Given the description of an element on the screen output the (x, y) to click on. 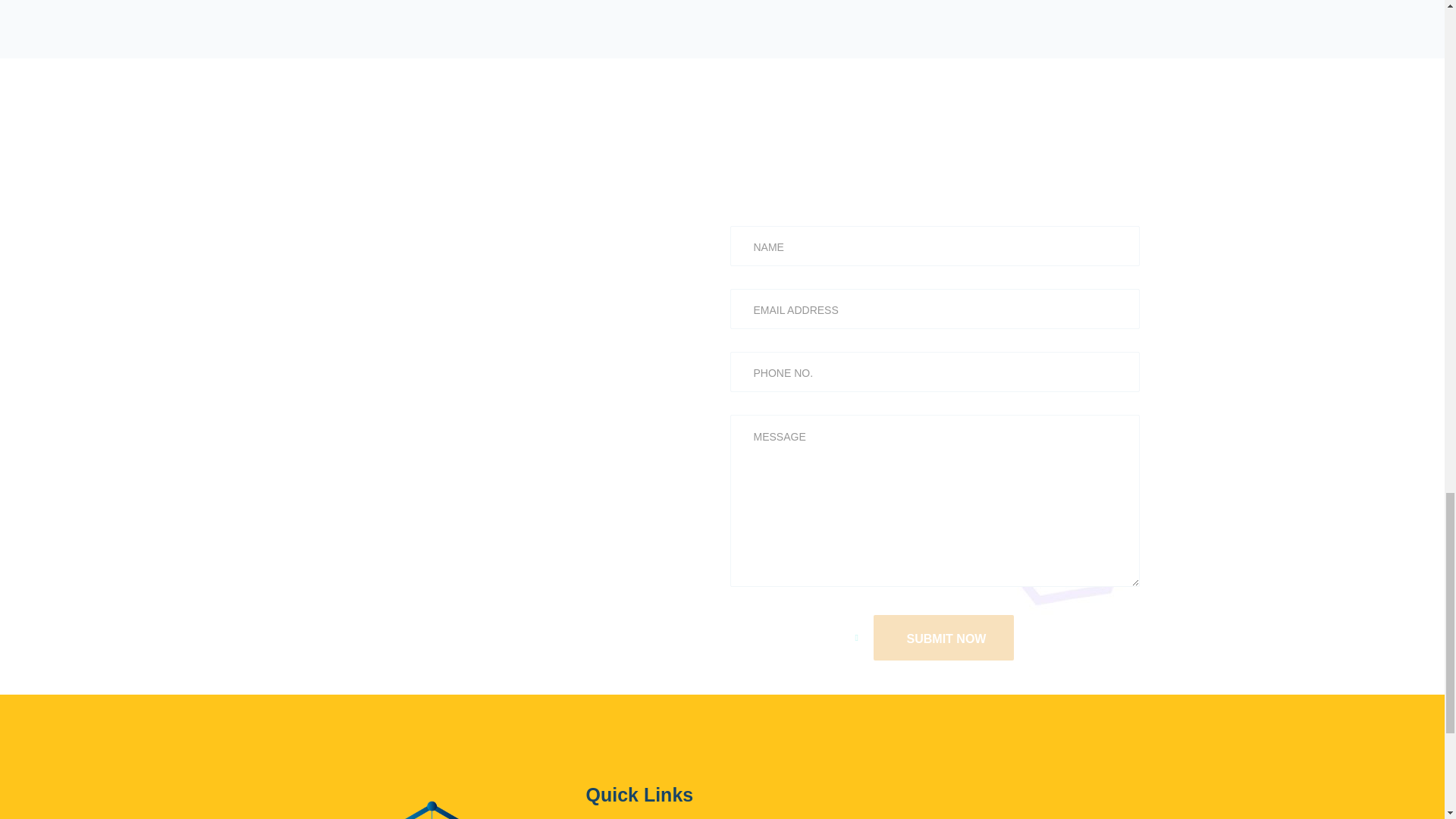
SUBMIT NOW (943, 637)
GM IT PARK 32-33, Sector 142, Noida, Uttar Pradesh 201305 (1010, 802)
